Given the description of an element on the screen output the (x, y) to click on. 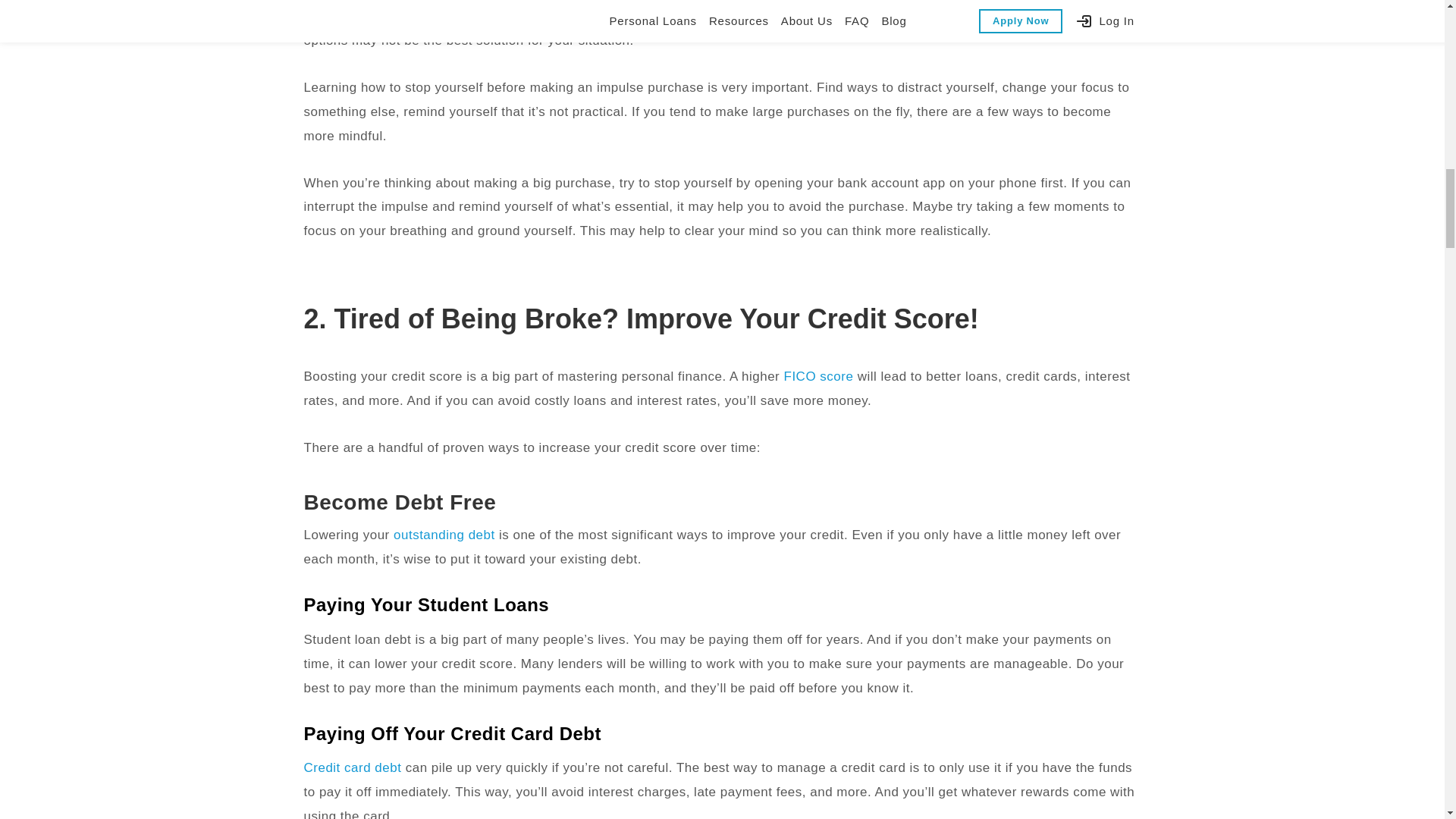
Credit card debt (351, 767)
Coffee Break Loans (793, 16)
outstanding debt (444, 534)
FICO score (818, 376)
